Given the description of an element on the screen output the (x, y) to click on. 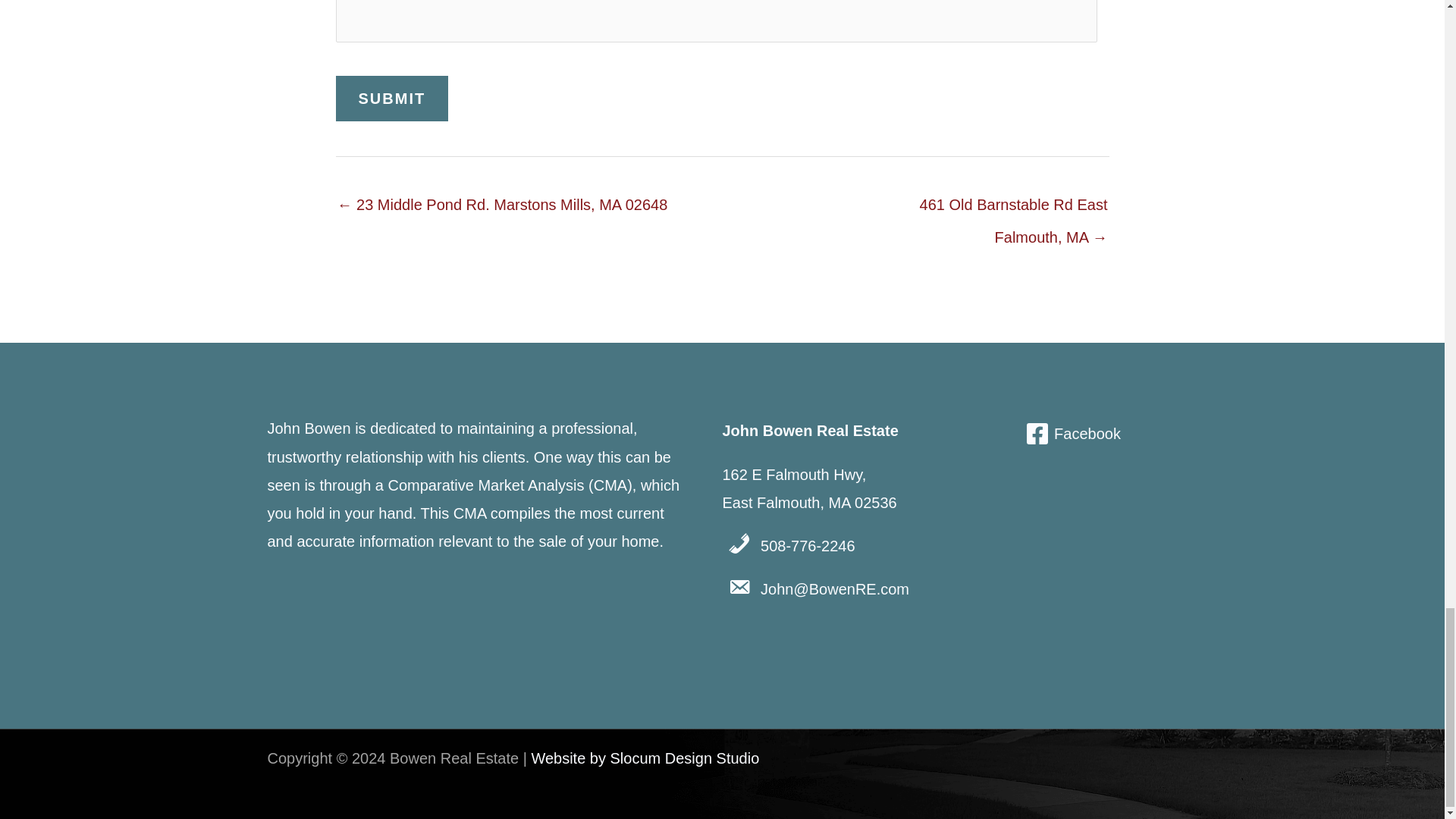
Submit (391, 98)
